Given the description of an element on the screen output the (x, y) to click on. 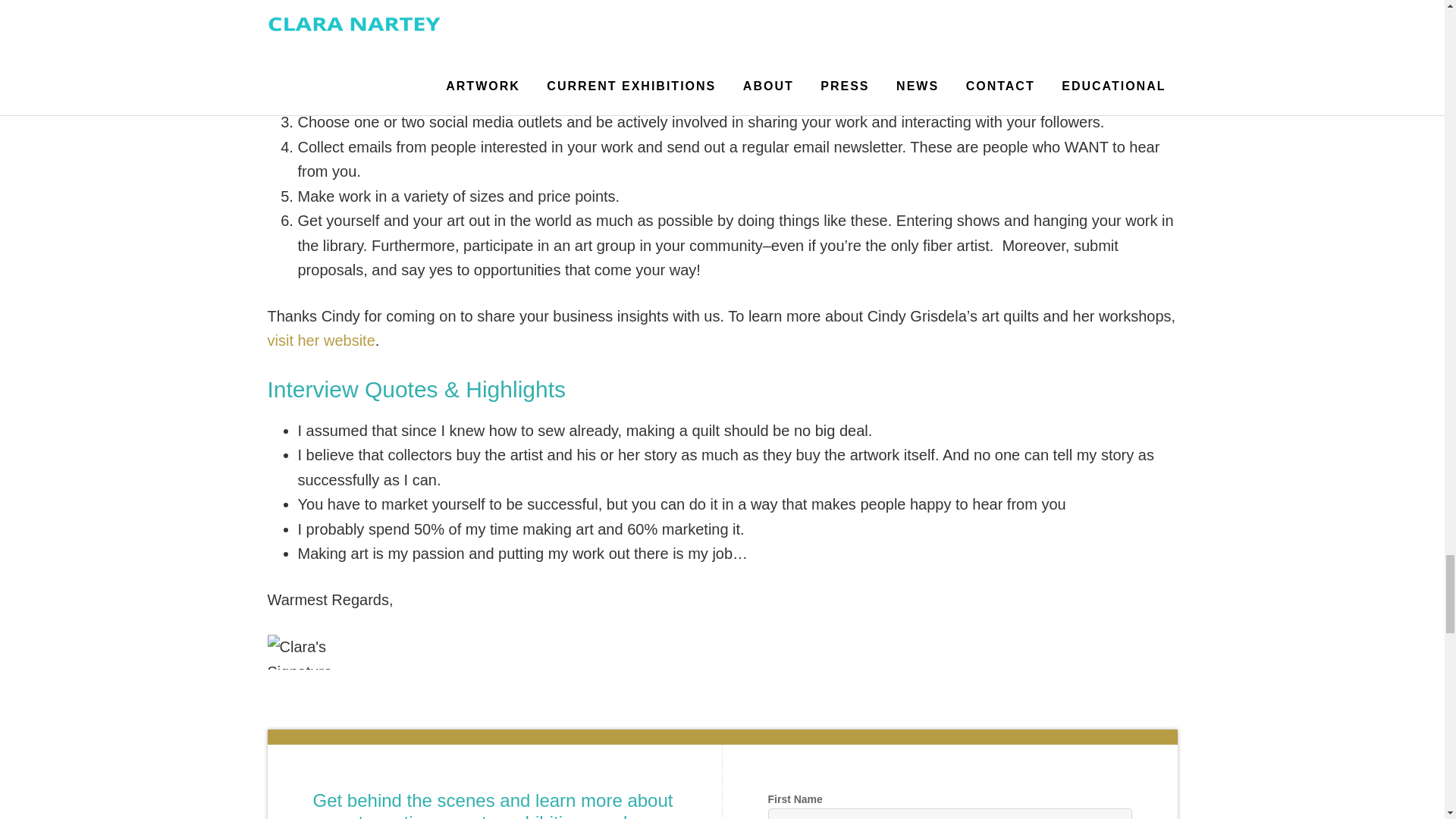
visit her website (320, 340)
